Given the description of an element on the screen output the (x, y) to click on. 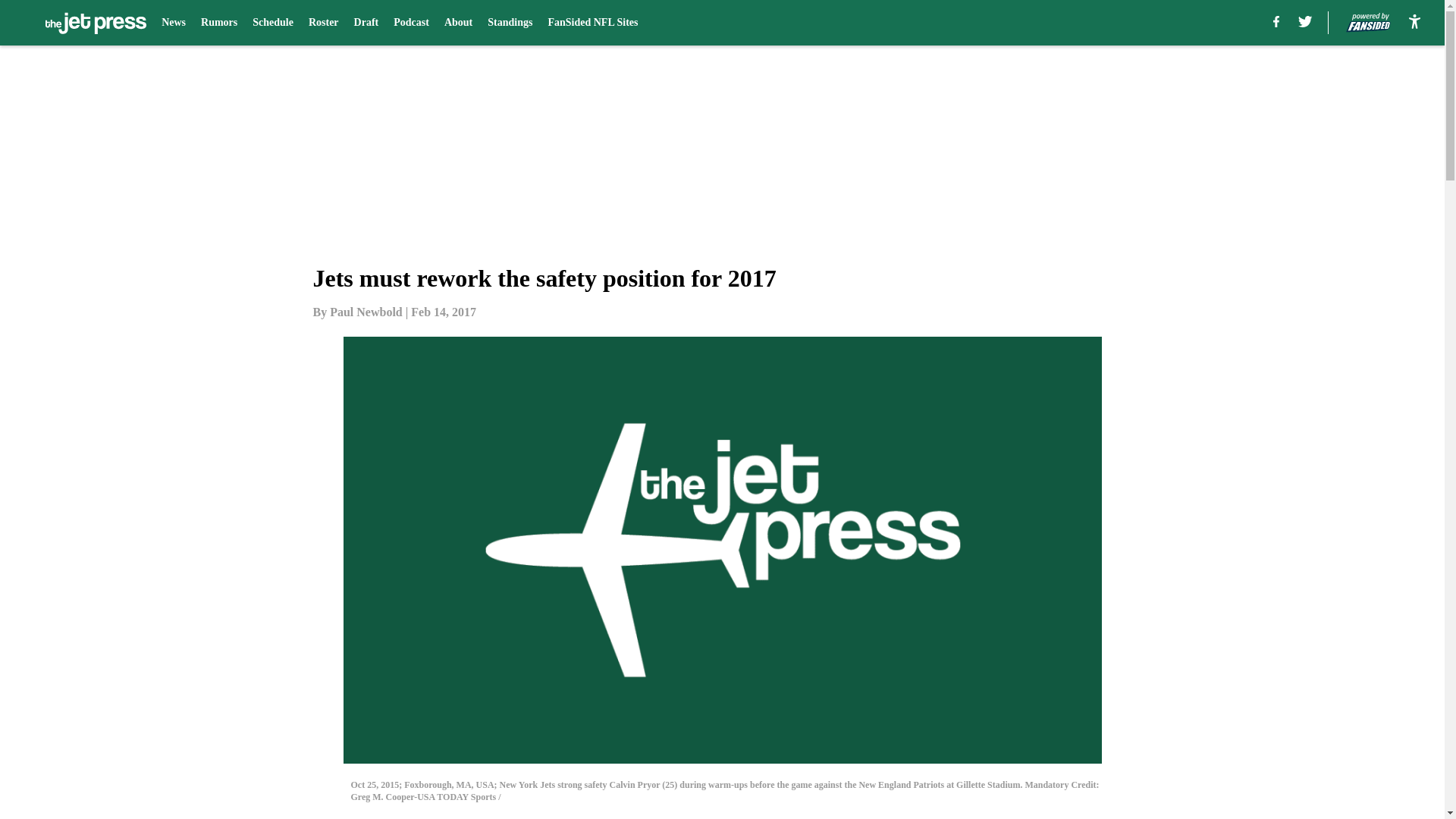
News (173, 22)
Standings (509, 22)
Podcast (411, 22)
Roster (323, 22)
Draft (365, 22)
Schedule (272, 22)
Rumors (218, 22)
FanSided NFL Sites (592, 22)
About (457, 22)
